Given the description of an element on the screen output the (x, y) to click on. 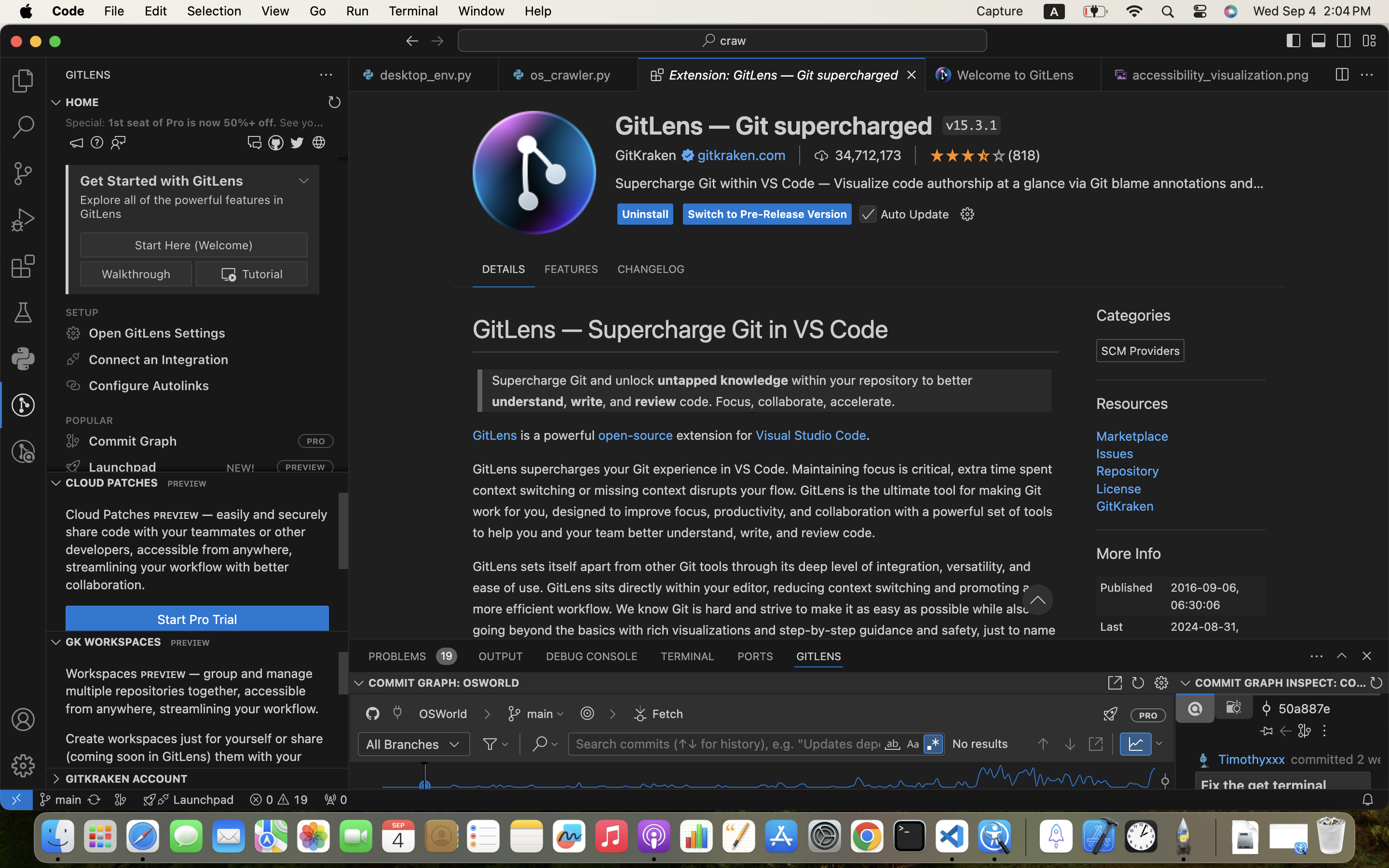
Resources Element type: AXStaticText (1132, 403)
craw Element type: AXStaticText (733, 40)
 Element type: AXStaticText (657, 74)
 Element type: AXButton (1366, 655)
0 DEBUG CONSOLE Element type: AXRadioButton (591, 655)
